Given the description of an element on the screen output the (x, y) to click on. 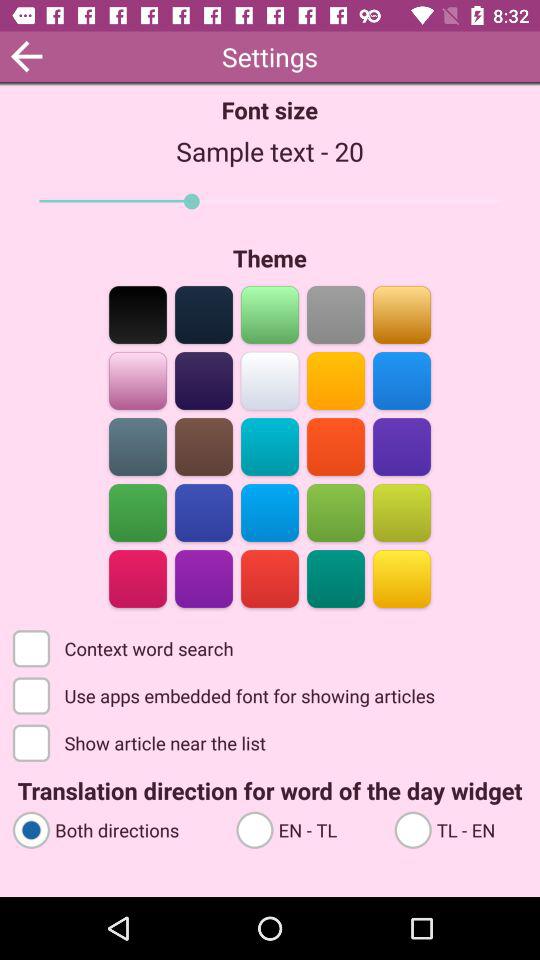
sets background color (335, 445)
